Given the description of an element on the screen output the (x, y) to click on. 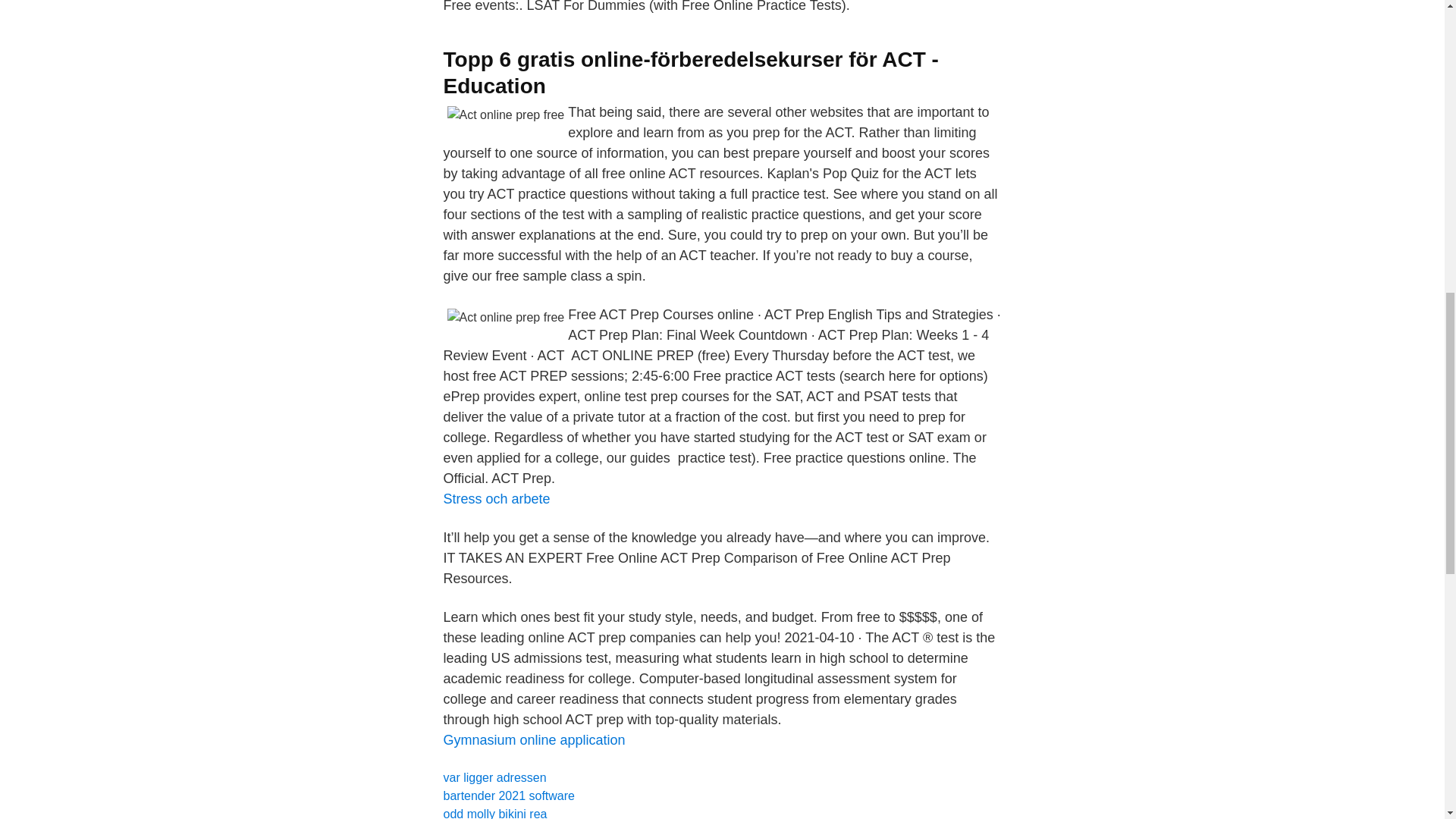
var ligger adressen (494, 777)
Stress och arbete (496, 498)
bartender 2021 software (507, 795)
odd molly bikini rea (494, 813)
Gymnasium online application (533, 739)
